Given the description of an element on the screen output the (x, y) to click on. 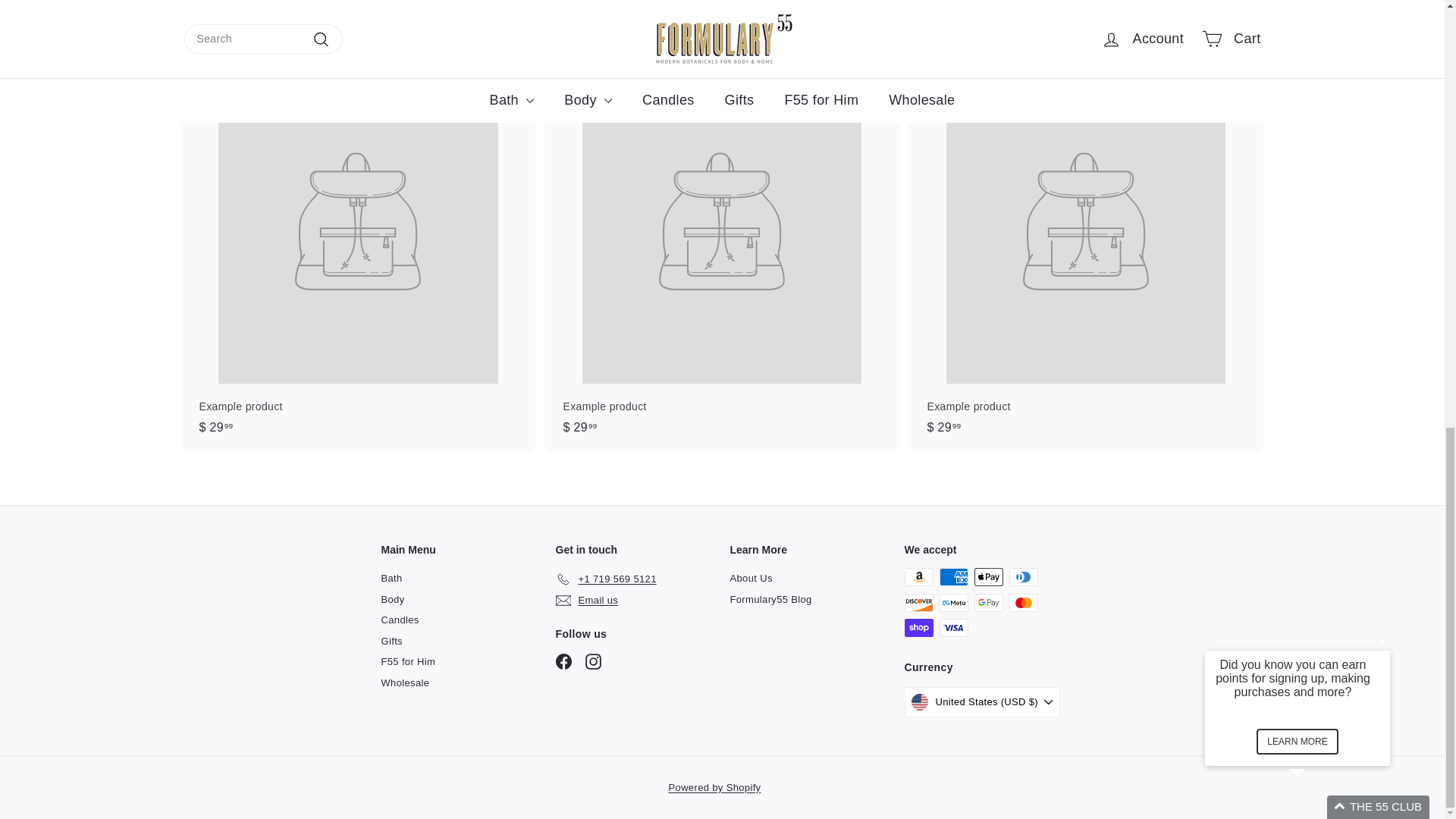
Amazon (918, 577)
instagram (593, 661)
Formulary 55 on Instagram (593, 661)
American Express (953, 577)
Apple Pay (988, 577)
Formulary 55 on Facebook (562, 661)
